Given the description of an element on the screen output the (x, y) to click on. 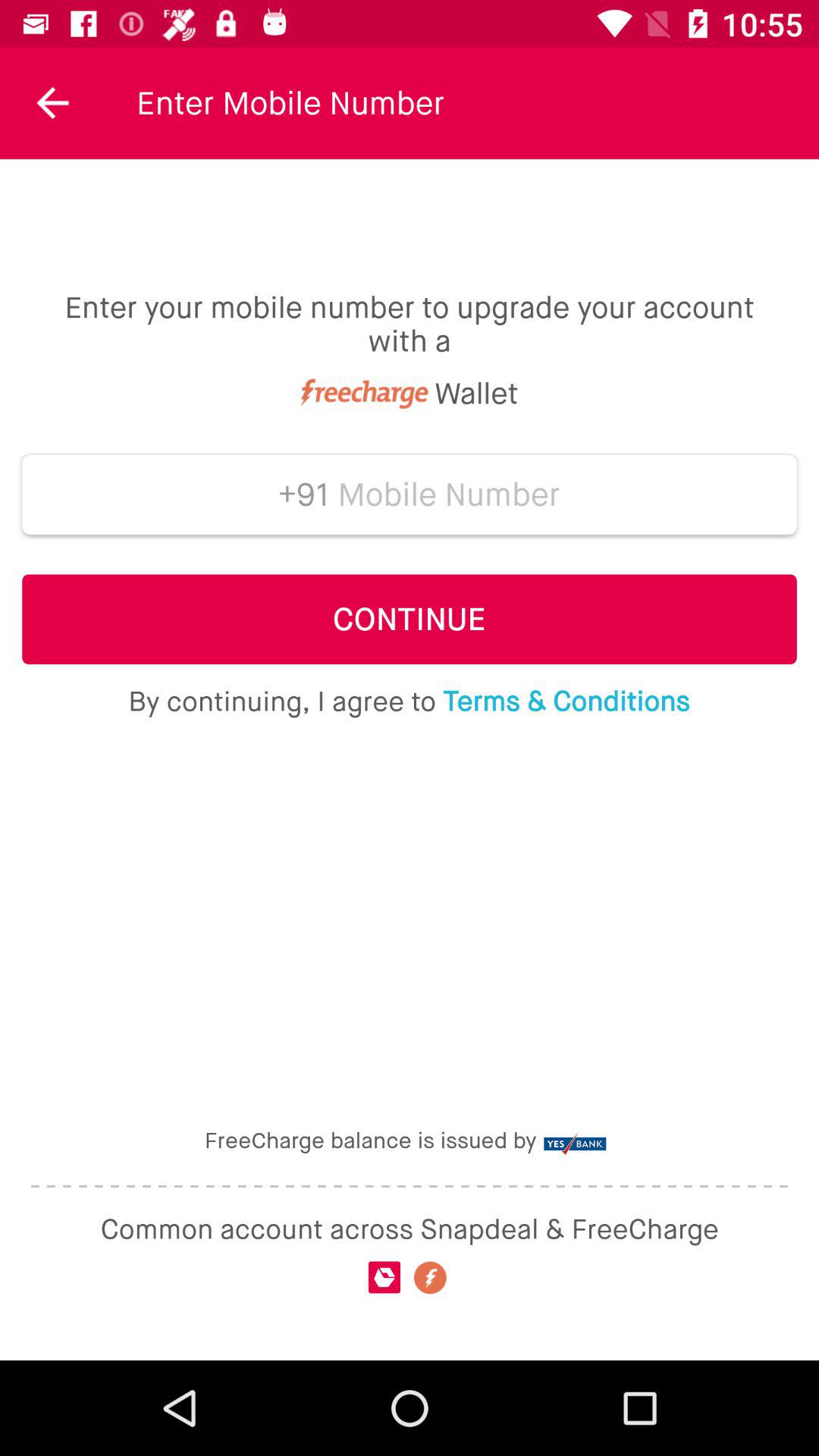
line to enter your mobile number (448, 494)
